Given the description of an element on the screen output the (x, y) to click on. 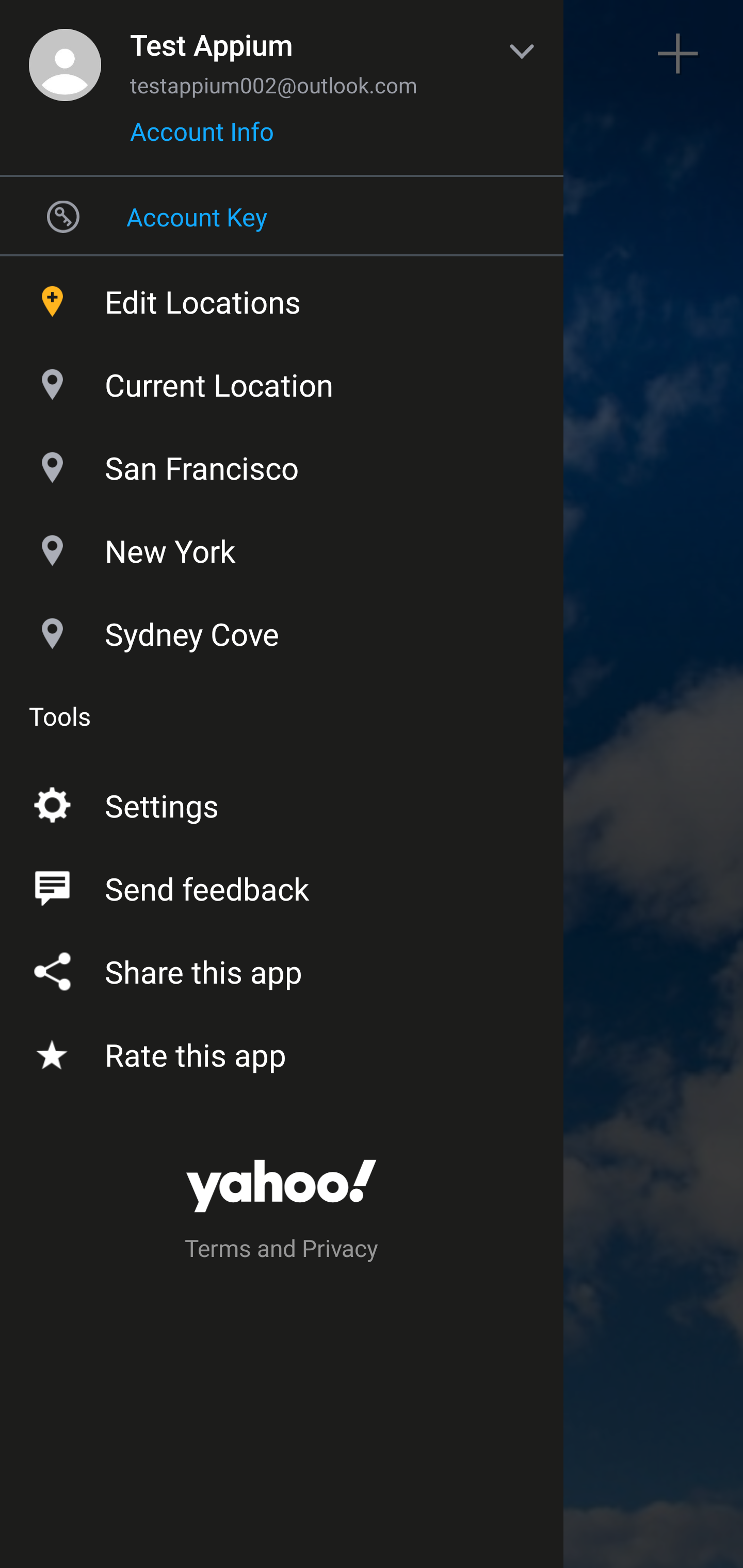
Sidebar (64, 54)
Account Info (202, 137)
Account Key (281, 216)
Edit Locations (281, 296)
Current Location (281, 379)
San Francisco (281, 462)
New York (281, 546)
Sydney Cove (281, 629)
Settings (281, 801)
Send feedback (281, 884)
Share this app (281, 967)
Terms and Privacy Terms and privacy button (281, 1251)
